Given the description of an element on the screen output the (x, y) to click on. 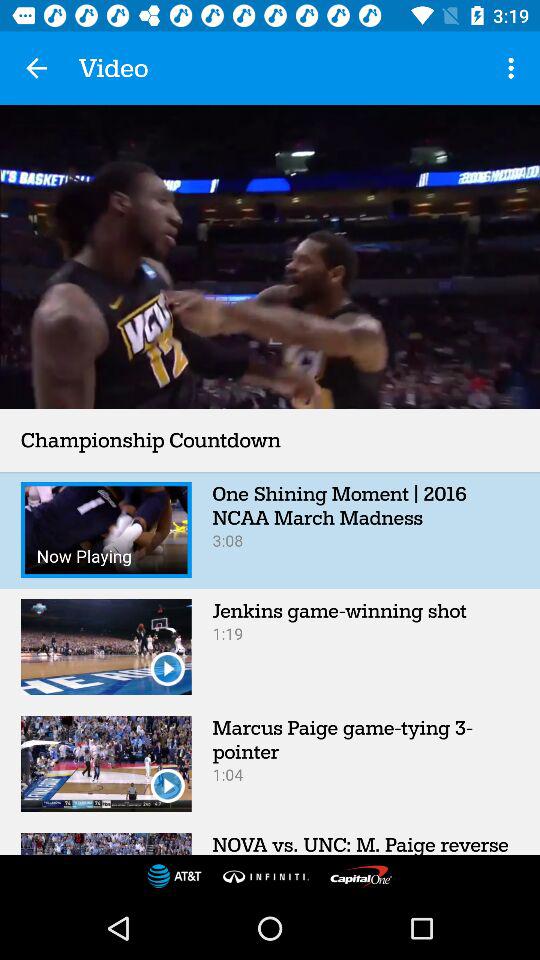
turn off icon to the right of the video icon (513, 67)
